Given the description of an element on the screen output the (x, y) to click on. 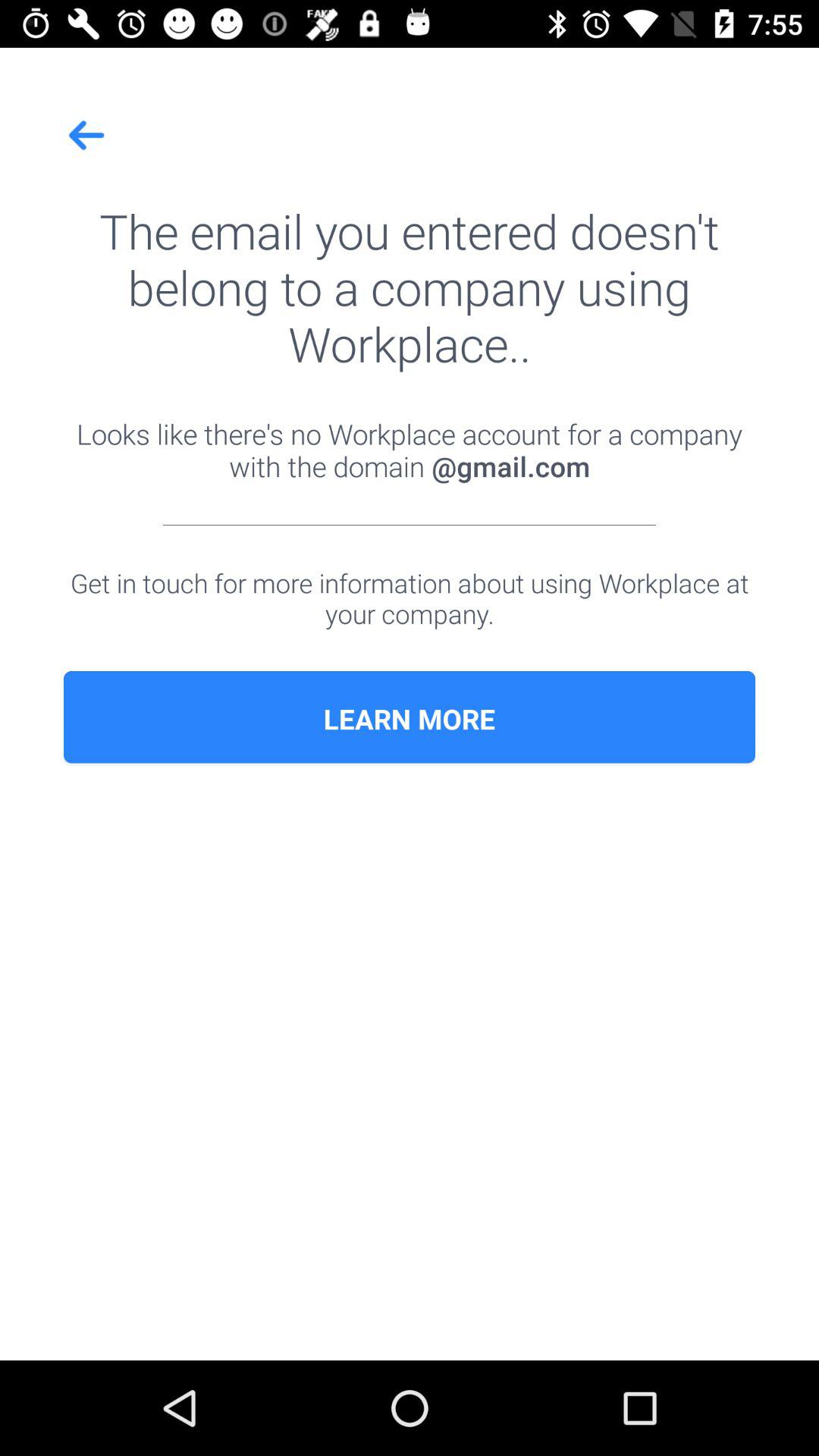
tap icon at the top left corner (87, 135)
